Given the description of an element on the screen output the (x, y) to click on. 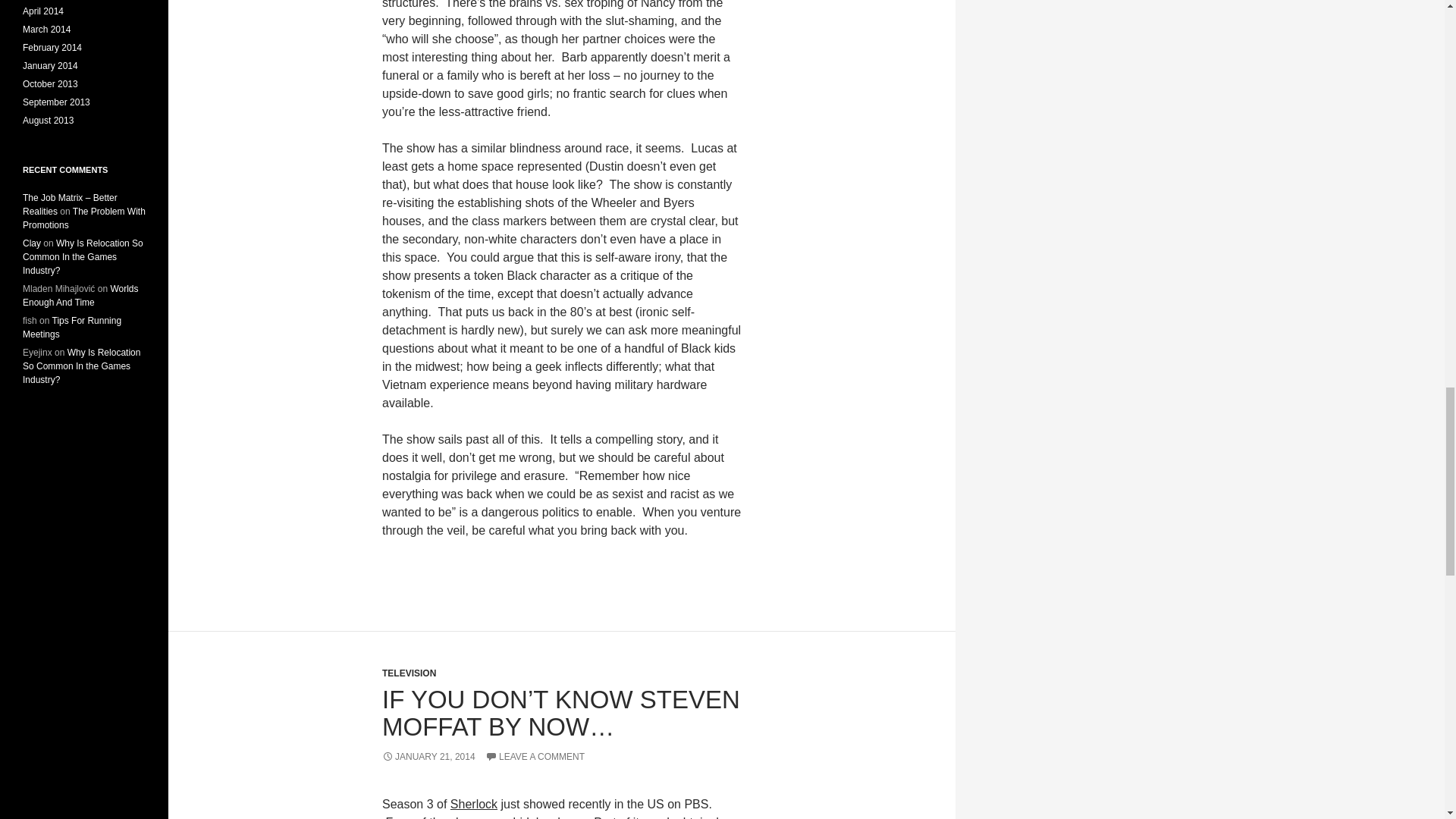
LEAVE A COMMENT (534, 756)
JANUARY 21, 2014 (428, 756)
TELEVISION (408, 673)
